Given the description of an element on the screen output the (x, y) to click on. 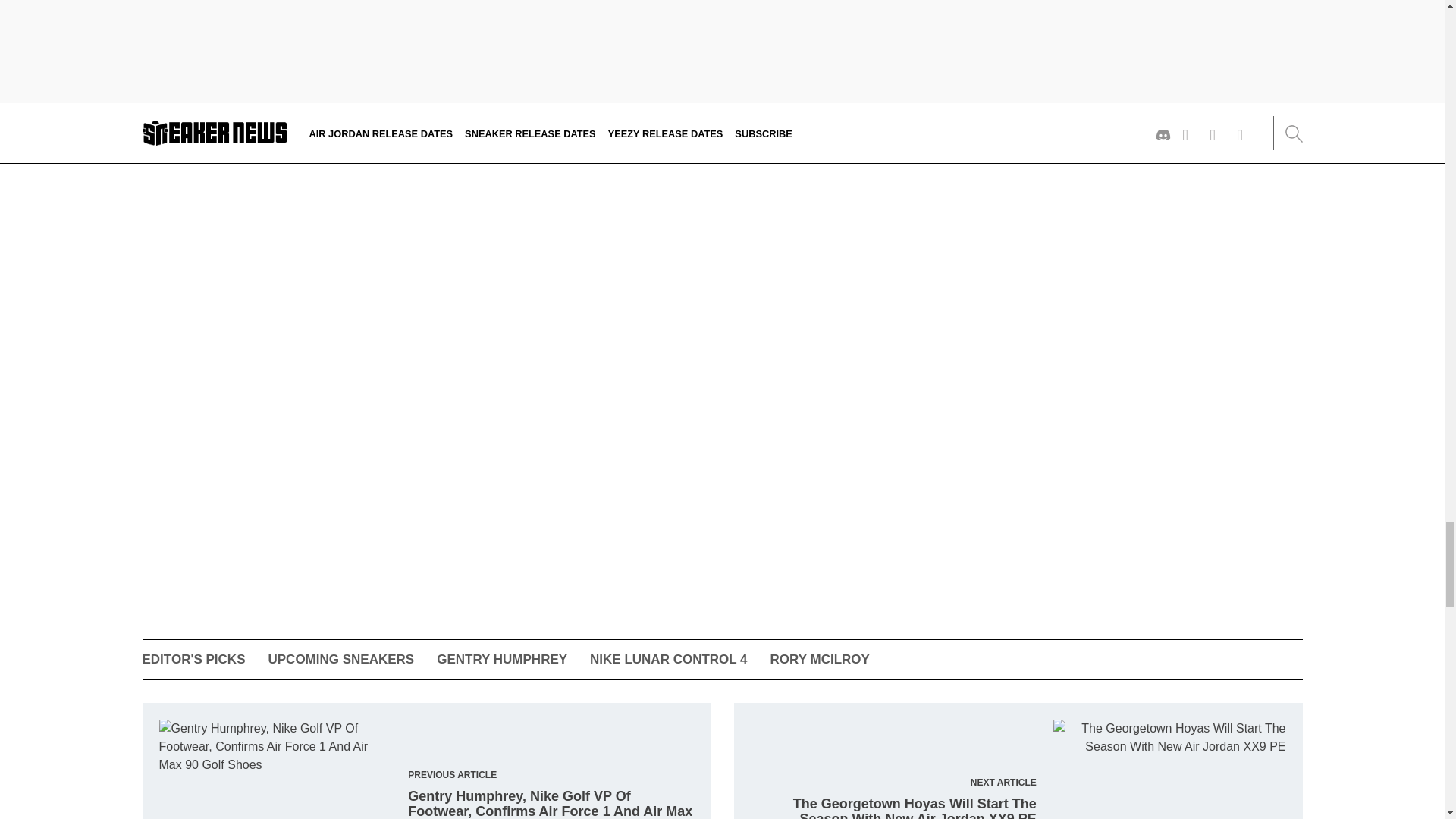
NIKE LUNAR CONTROL 4 (667, 658)
GENTRY HUMPHREY (501, 658)
RORY MCILROY (819, 658)
EDITOR'S PICKS (194, 658)
UPCOMING SNEAKERS (340, 658)
